Given the description of an element on the screen output the (x, y) to click on. 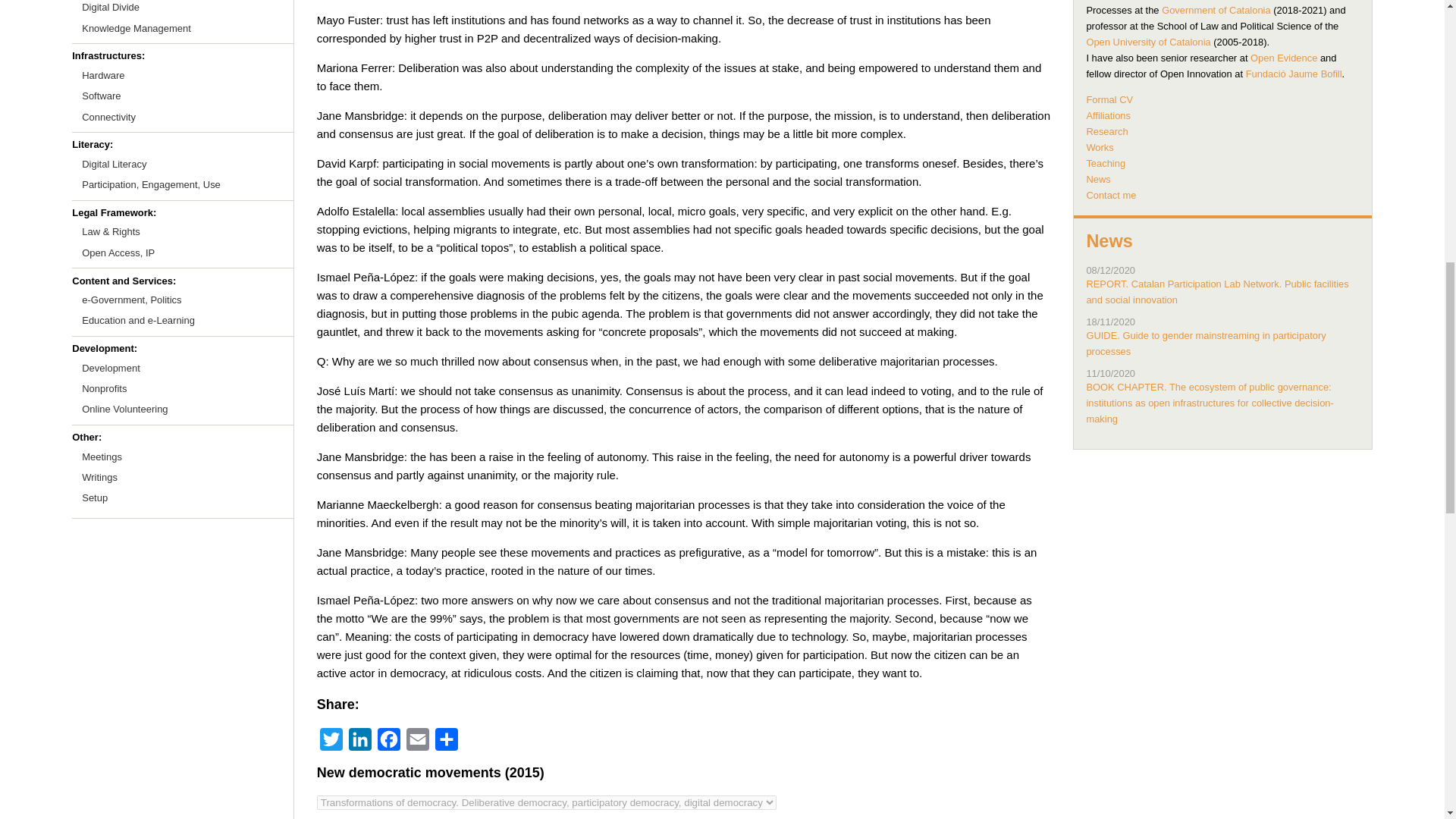
Twitter (331, 739)
LinkedIn (360, 739)
Facebook (388, 739)
Twitter (331, 739)
LinkedIn (360, 739)
